Given the description of an element on the screen output the (x, y) to click on. 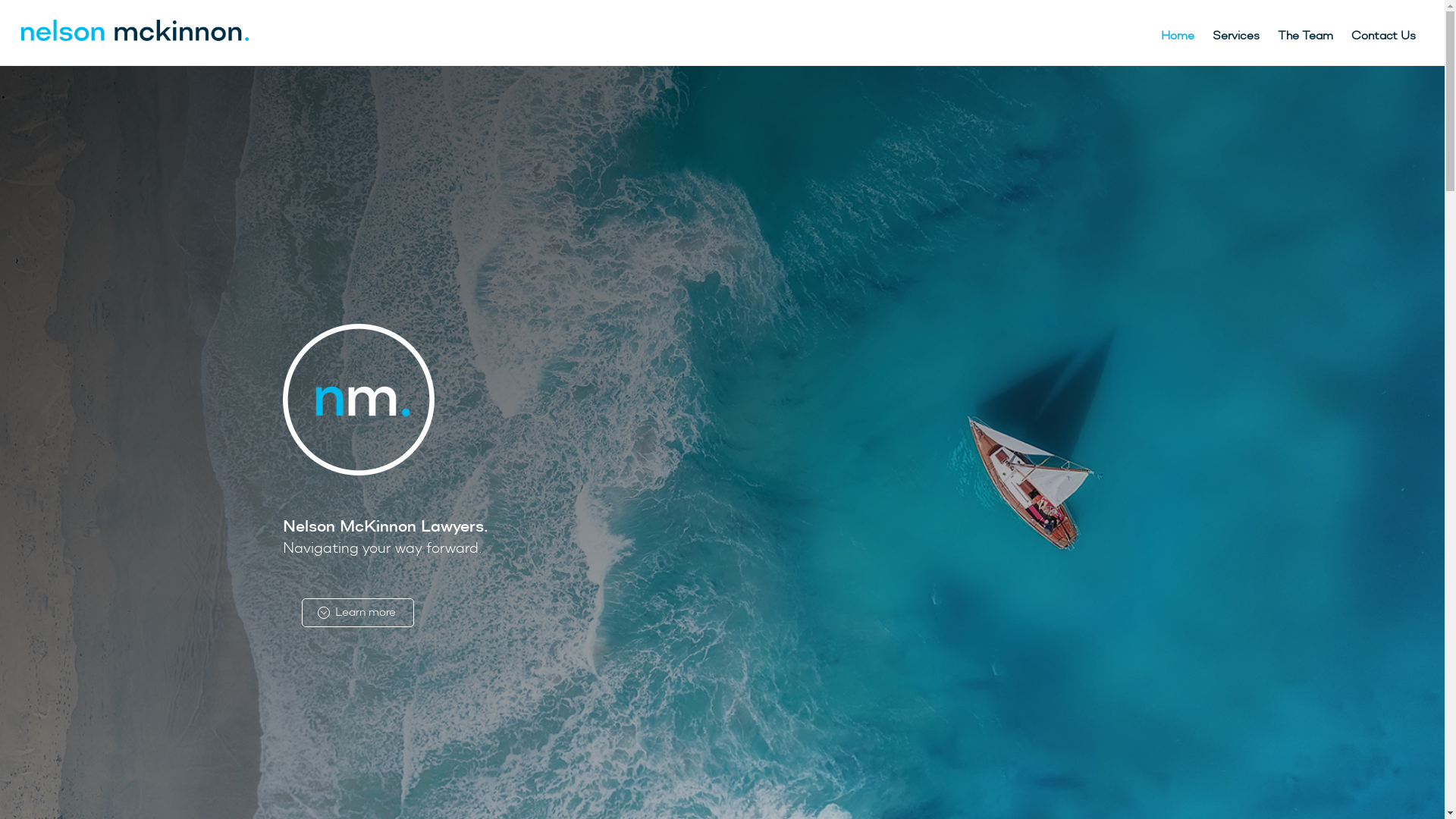
The Team Element type: text (1305, 35)
Contact Us Element type: text (1383, 35)
nm logo Element type: hover (134, 29)
nm white icon Element type: hover (357, 399)
Services Element type: text (1235, 35)
Home Element type: text (1177, 35)
Nelson McKinnon Element type: hover (134, 33)
Learn more Element type: text (357, 612)
